Given the description of an element on the screen output the (x, y) to click on. 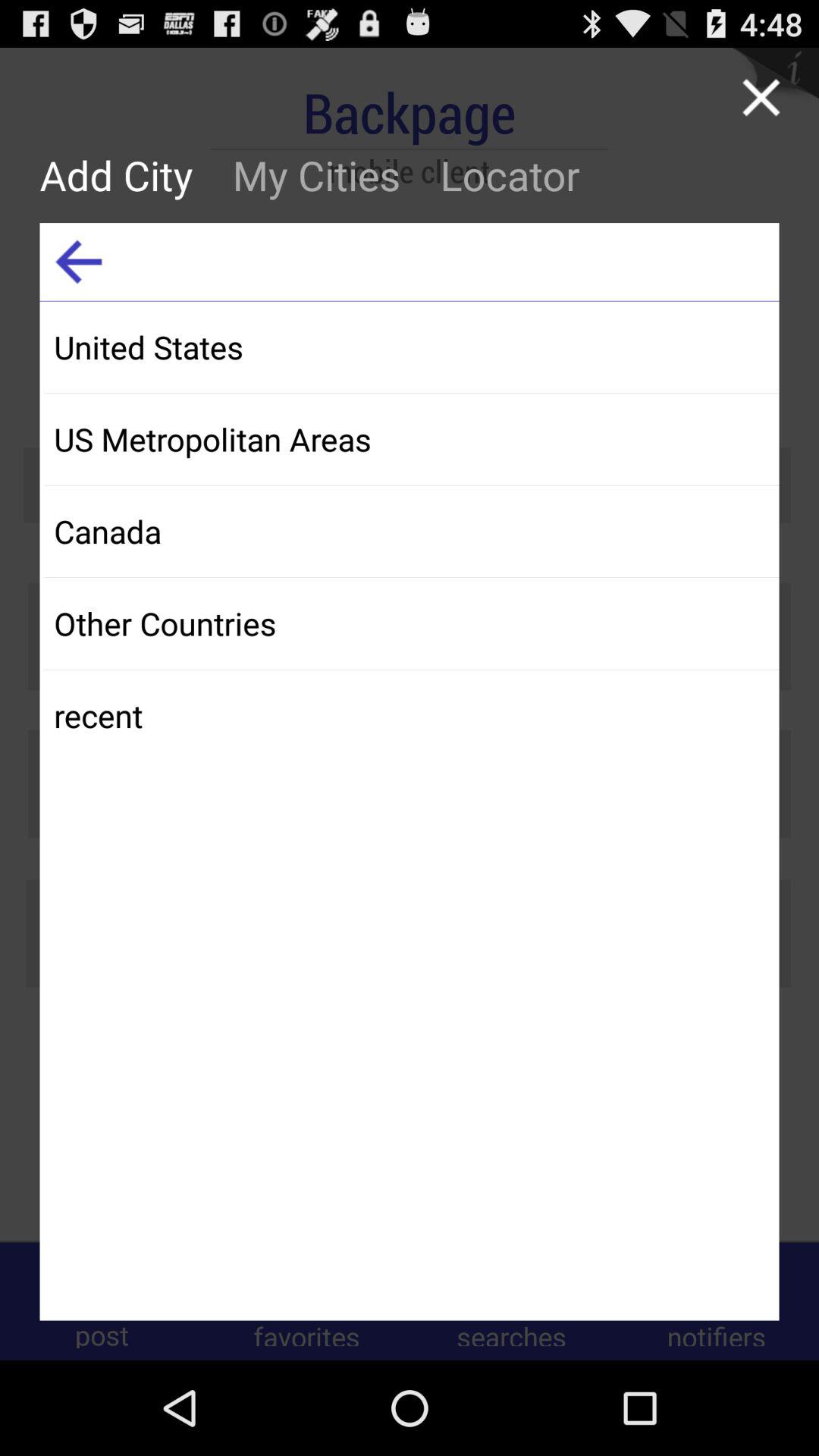
go back (78, 261)
